Given the description of an element on the screen output the (x, y) to click on. 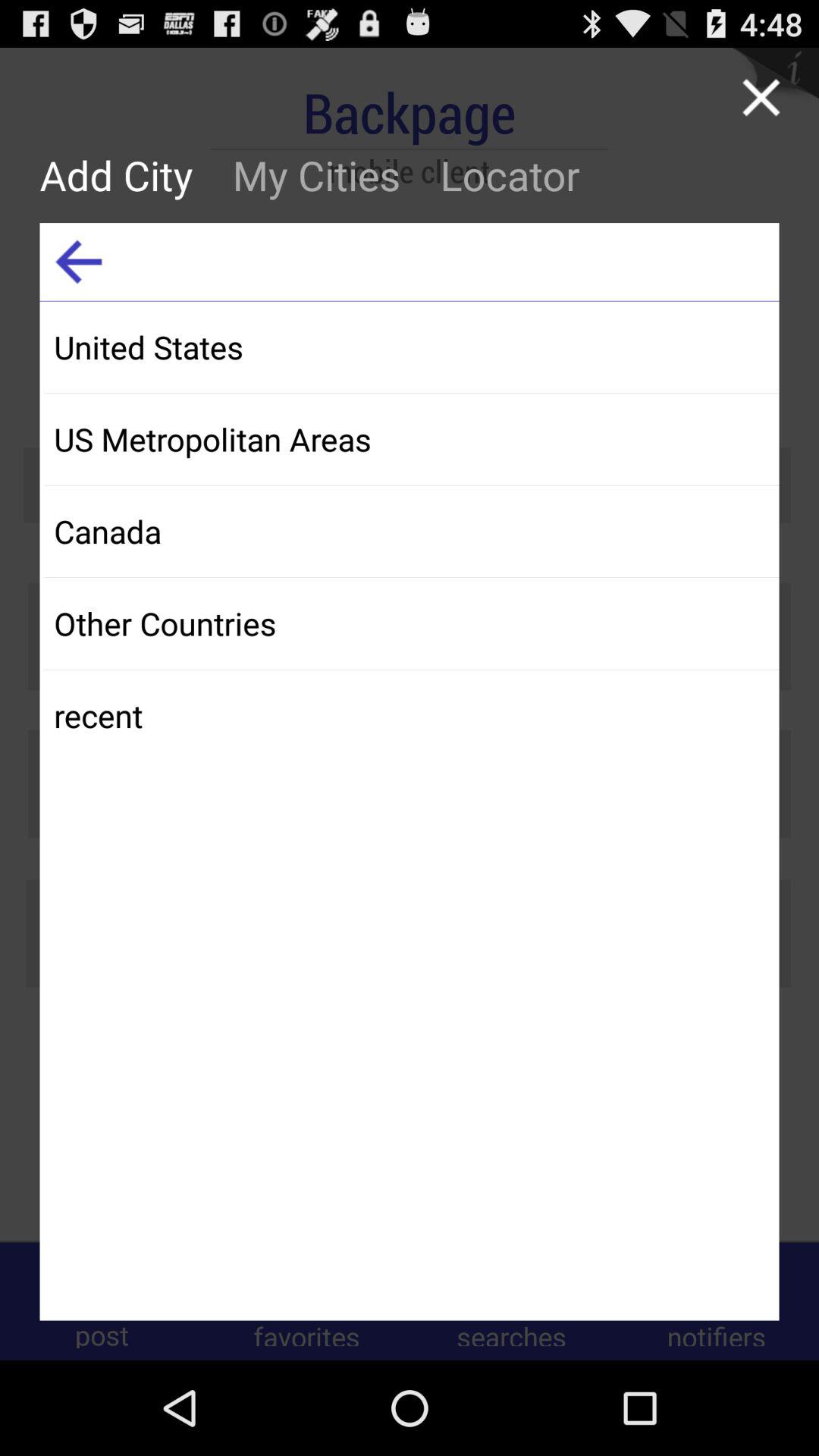
go back (78, 261)
